Given the description of an element on the screen output the (x, y) to click on. 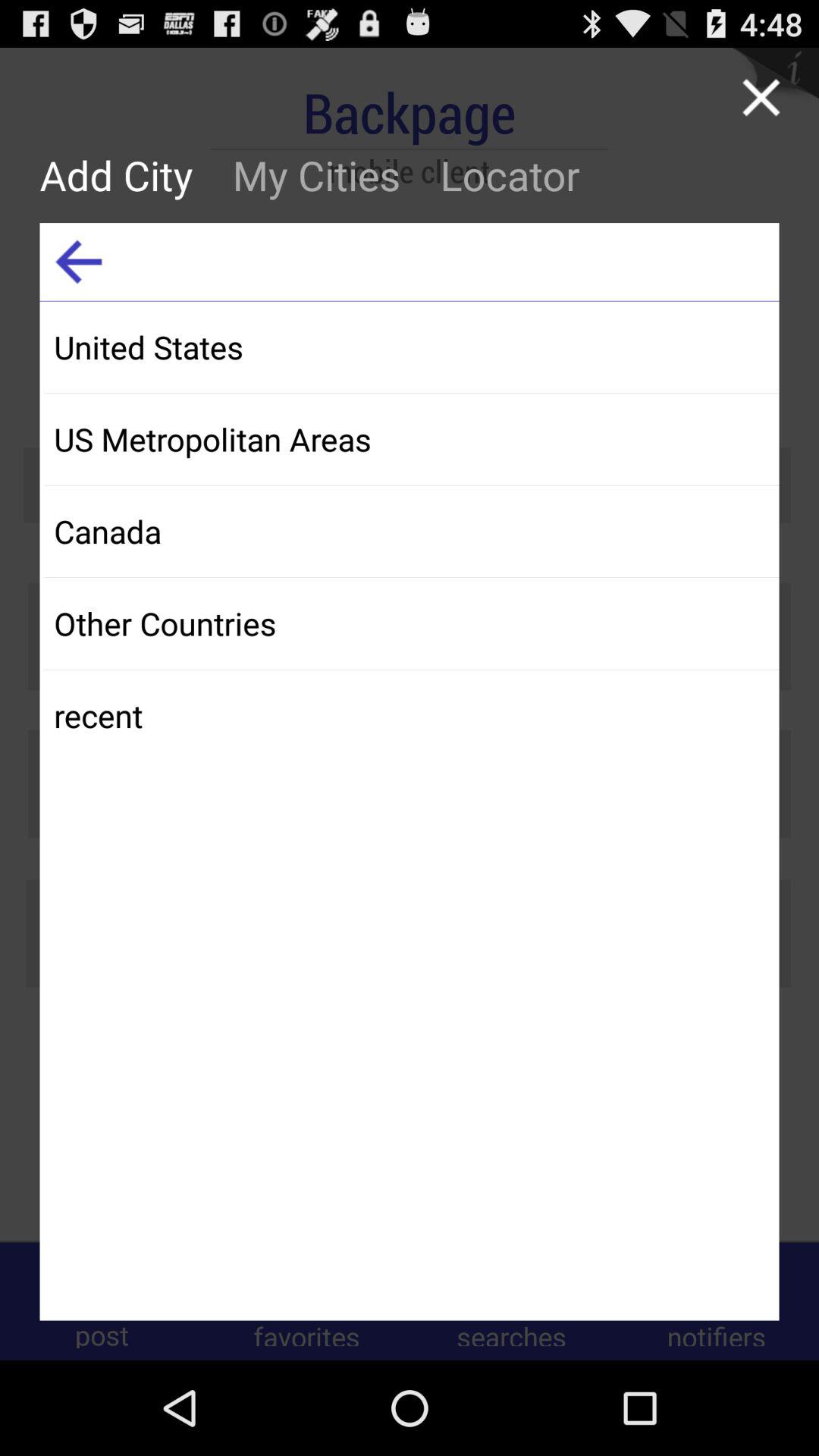
go back (78, 261)
